Given the description of an element on the screen output the (x, y) to click on. 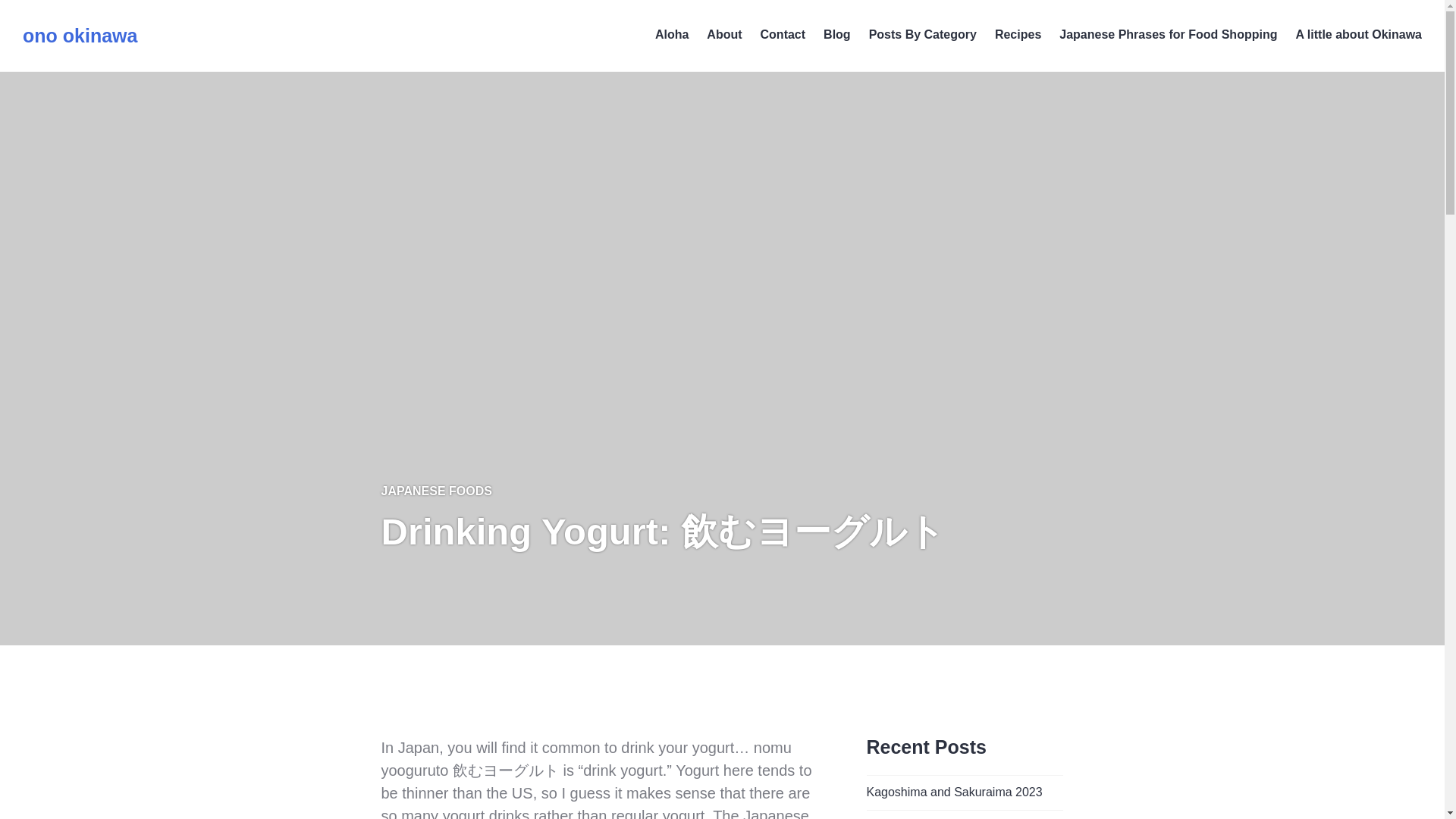
Aloha (671, 35)
About (723, 35)
Contact (783, 35)
ono okinawa (79, 35)
JAPANESE FOODS (436, 490)
Posts By Category (922, 35)
Recipes (1017, 35)
Japanese Phrases for Food Shopping (1167, 35)
Blog (837, 35)
A little about Okinawa (1358, 35)
